Given the description of an element on the screen output the (x, y) to click on. 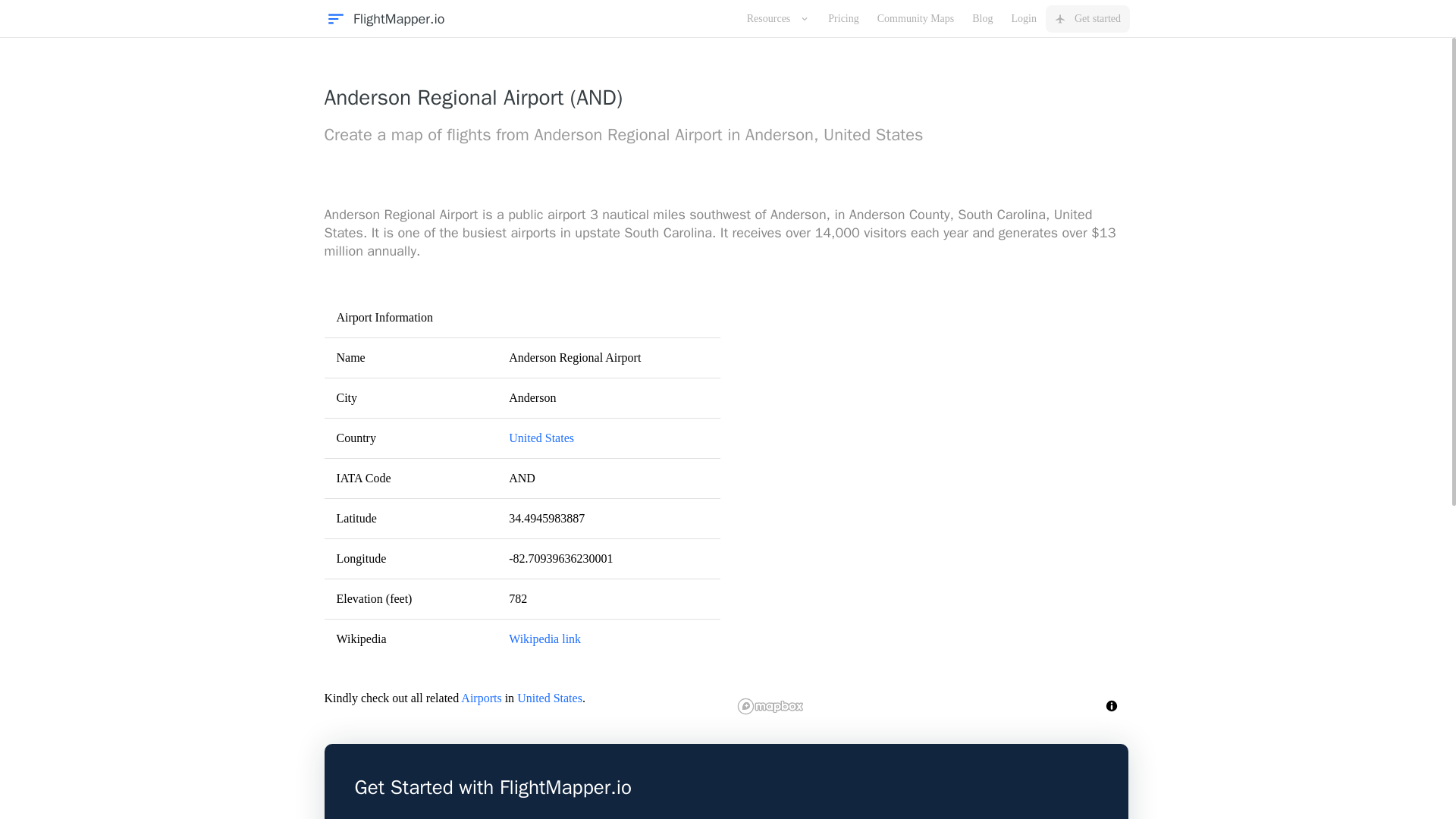
Pricing (842, 18)
Get started (1087, 18)
Resources (778, 18)
United States (540, 437)
Toggle attribution (1111, 705)
Wikipedia link (544, 638)
Login (1024, 18)
Blog (981, 18)
Community Maps (915, 18)
United States (549, 697)
Airports (480, 697)
